Given the description of an element on the screen output the (x, y) to click on. 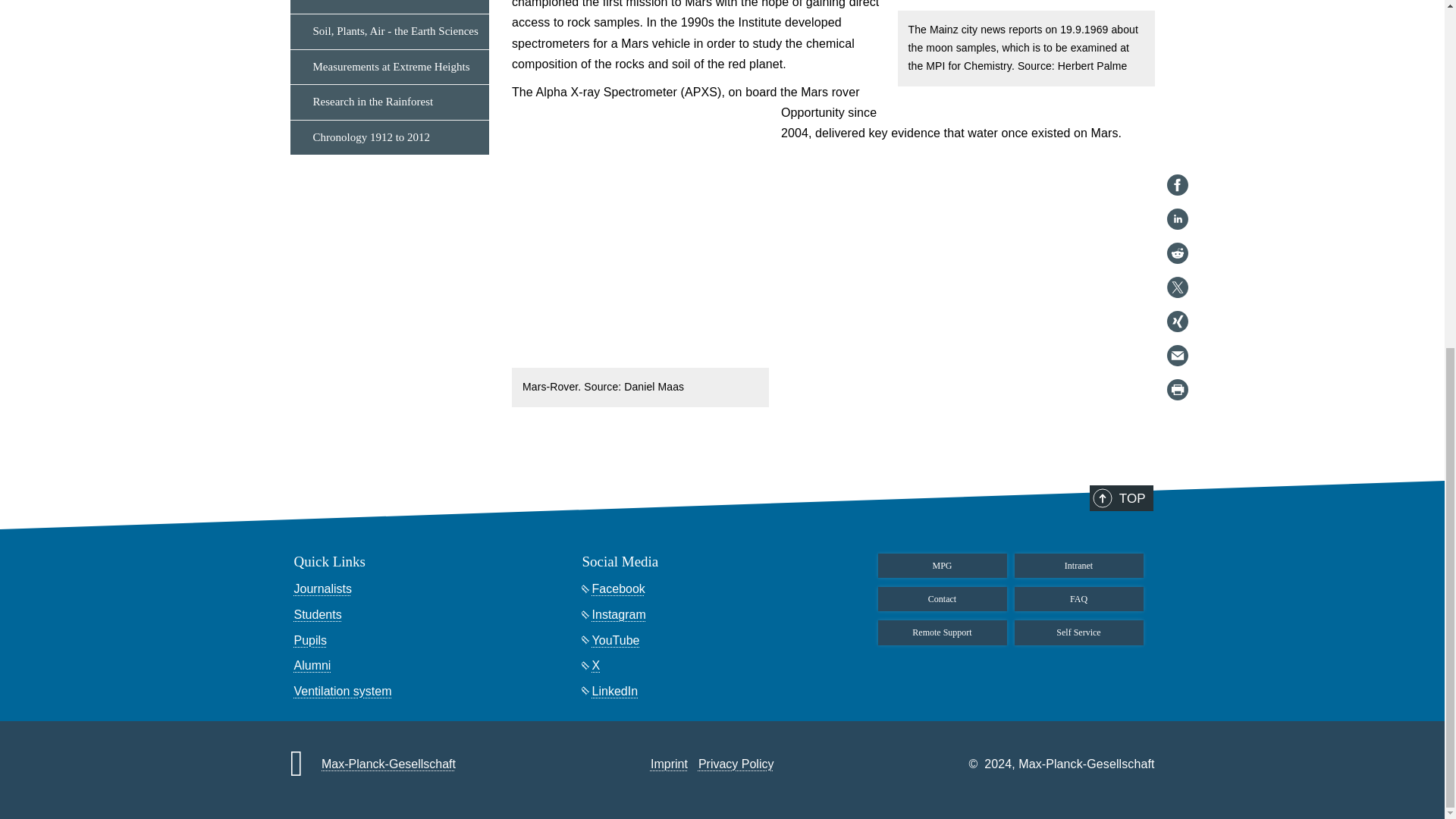
opens zoom view (1026, 5)
Mars-Rover. Source: Daniel Maas (640, 232)
opens zoom view (1140, 5)
opens zoom view (640, 235)
